Given the description of an element on the screen output the (x, y) to click on. 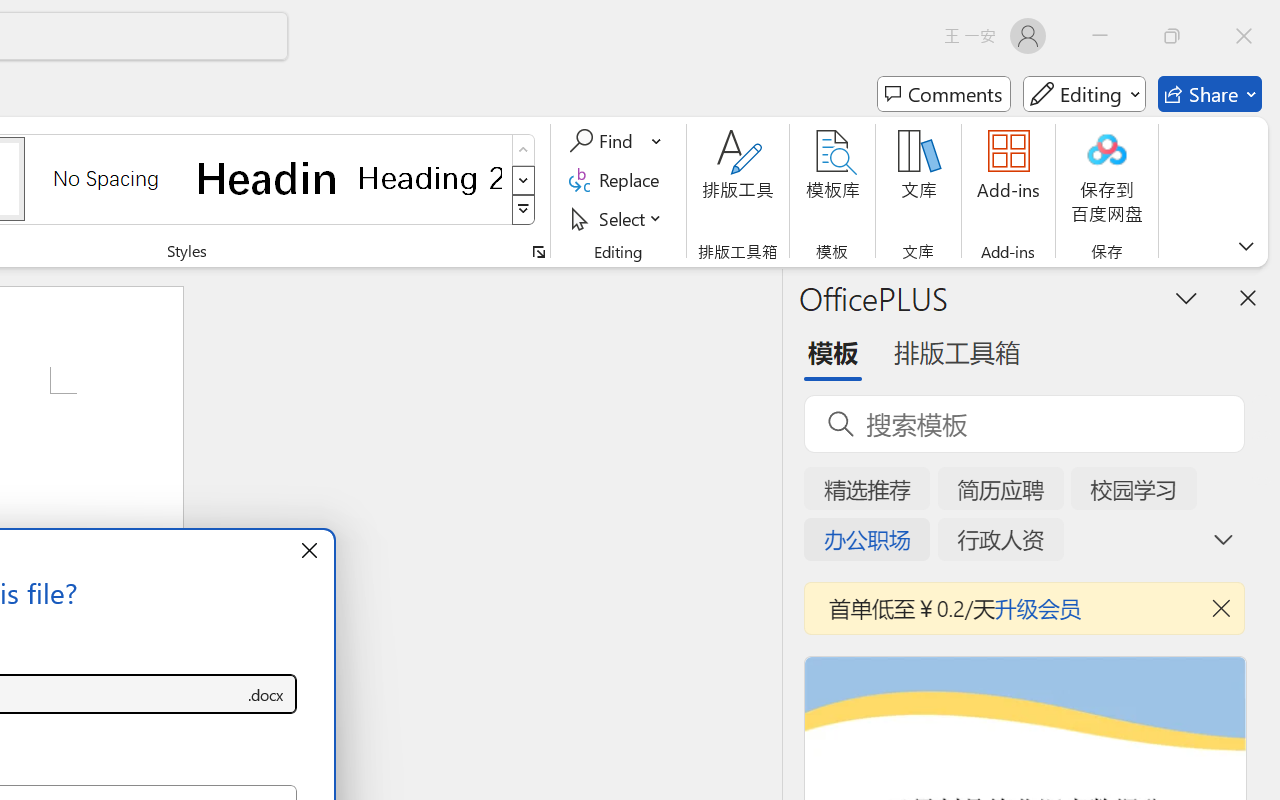
Ribbon Display Options (1246, 245)
Find (604, 141)
Heading 2 (429, 178)
Heading 1 (267, 178)
Row up (523, 150)
Save as type (265, 694)
